Given the description of an element on the screen output the (x, y) to click on. 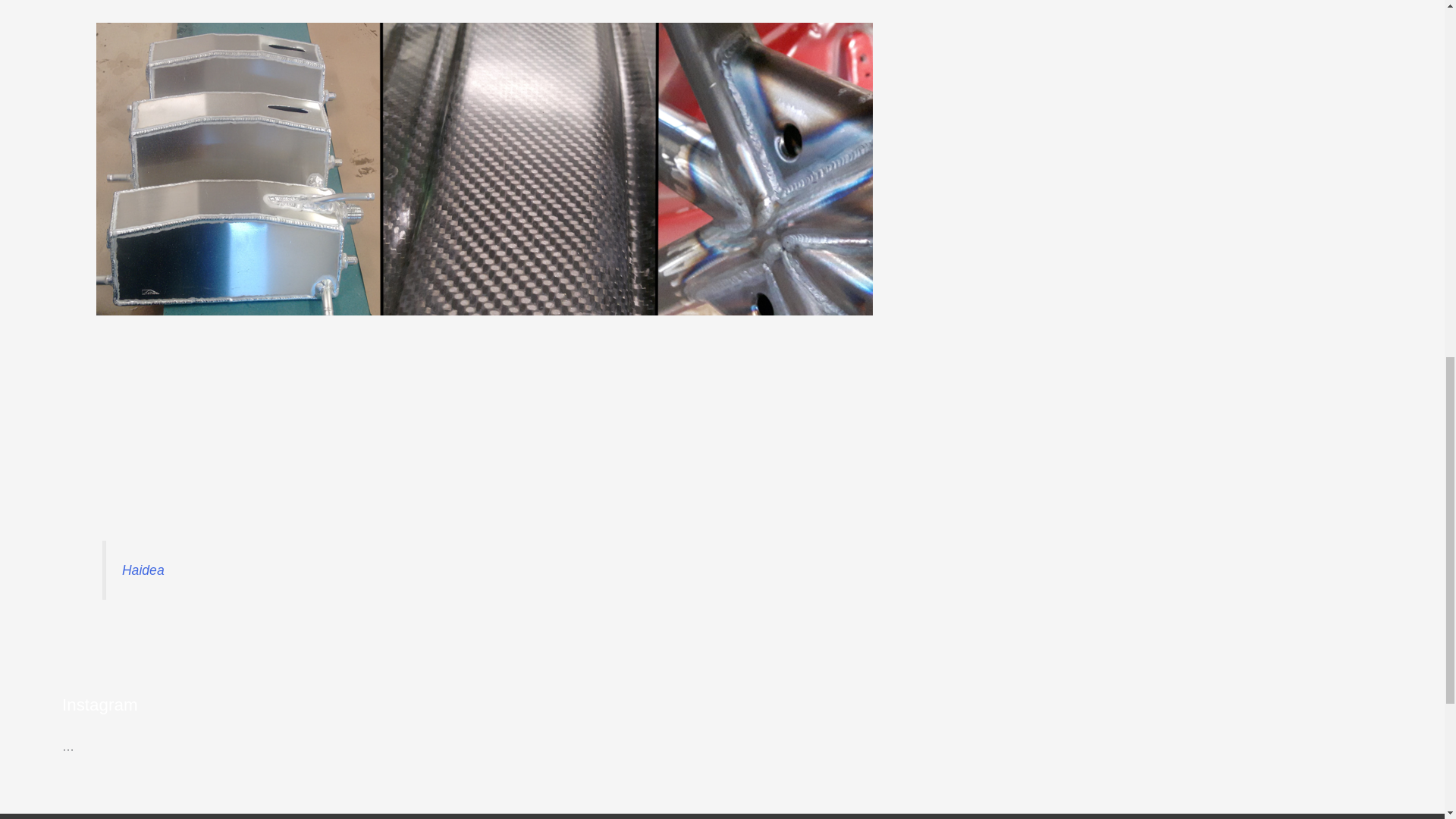
Haidea (143, 570)
